Given the description of an element on the screen output the (x, y) to click on. 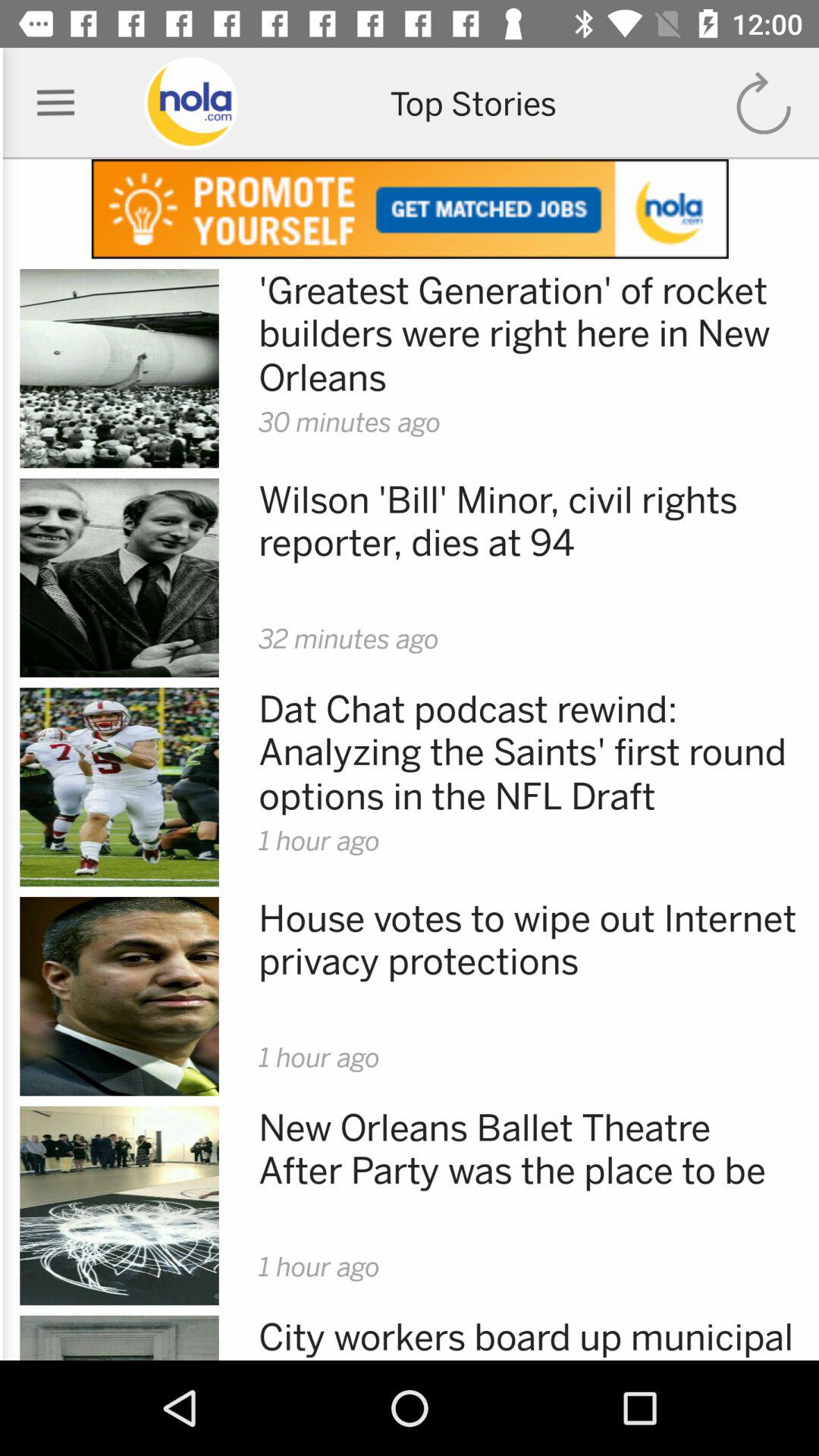
settings (55, 103)
